Given the description of an element on the screen output the (x, y) to click on. 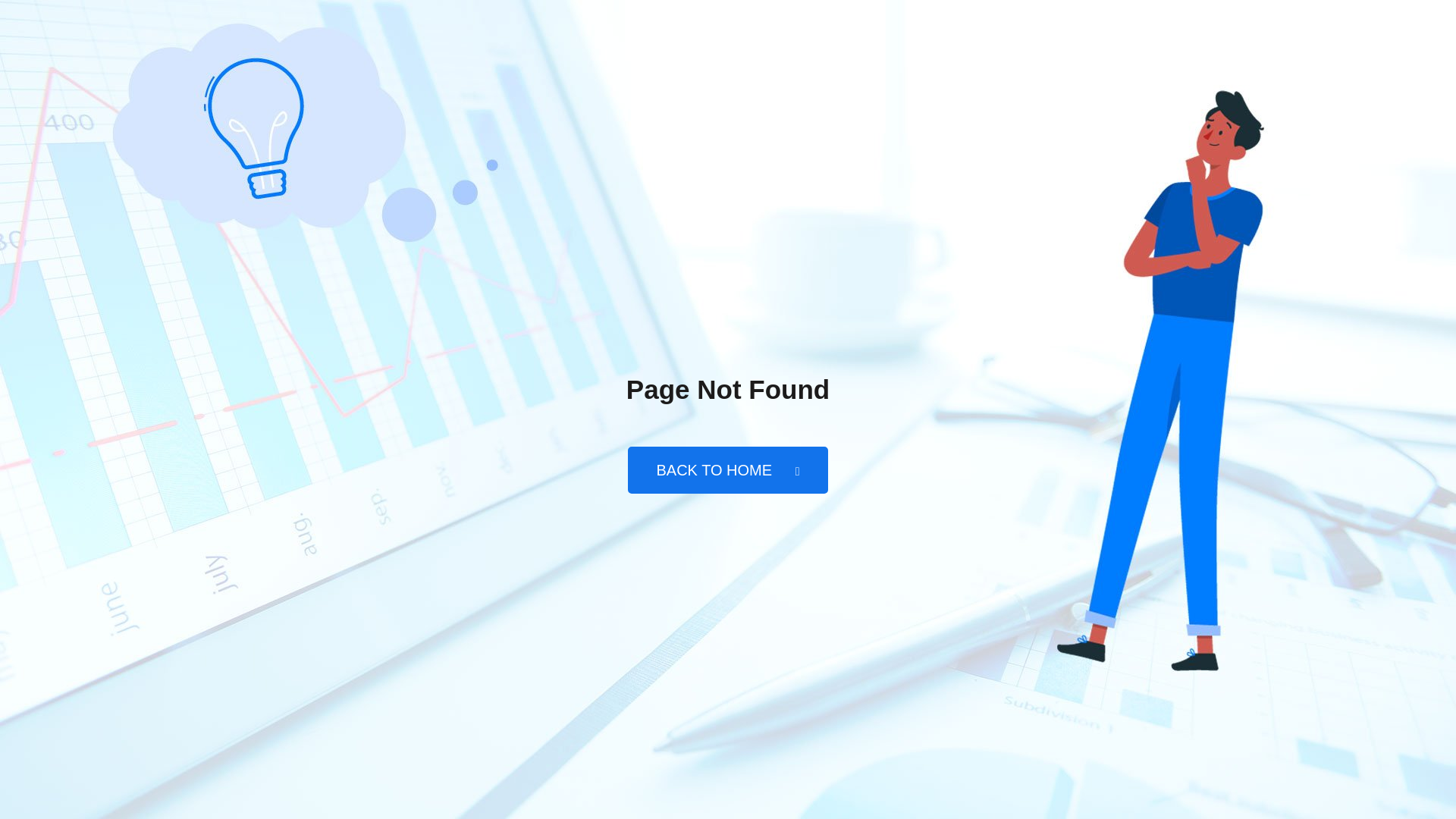
BACK TO HOME (727, 469)
